Given the description of an element on the screen output the (x, y) to click on. 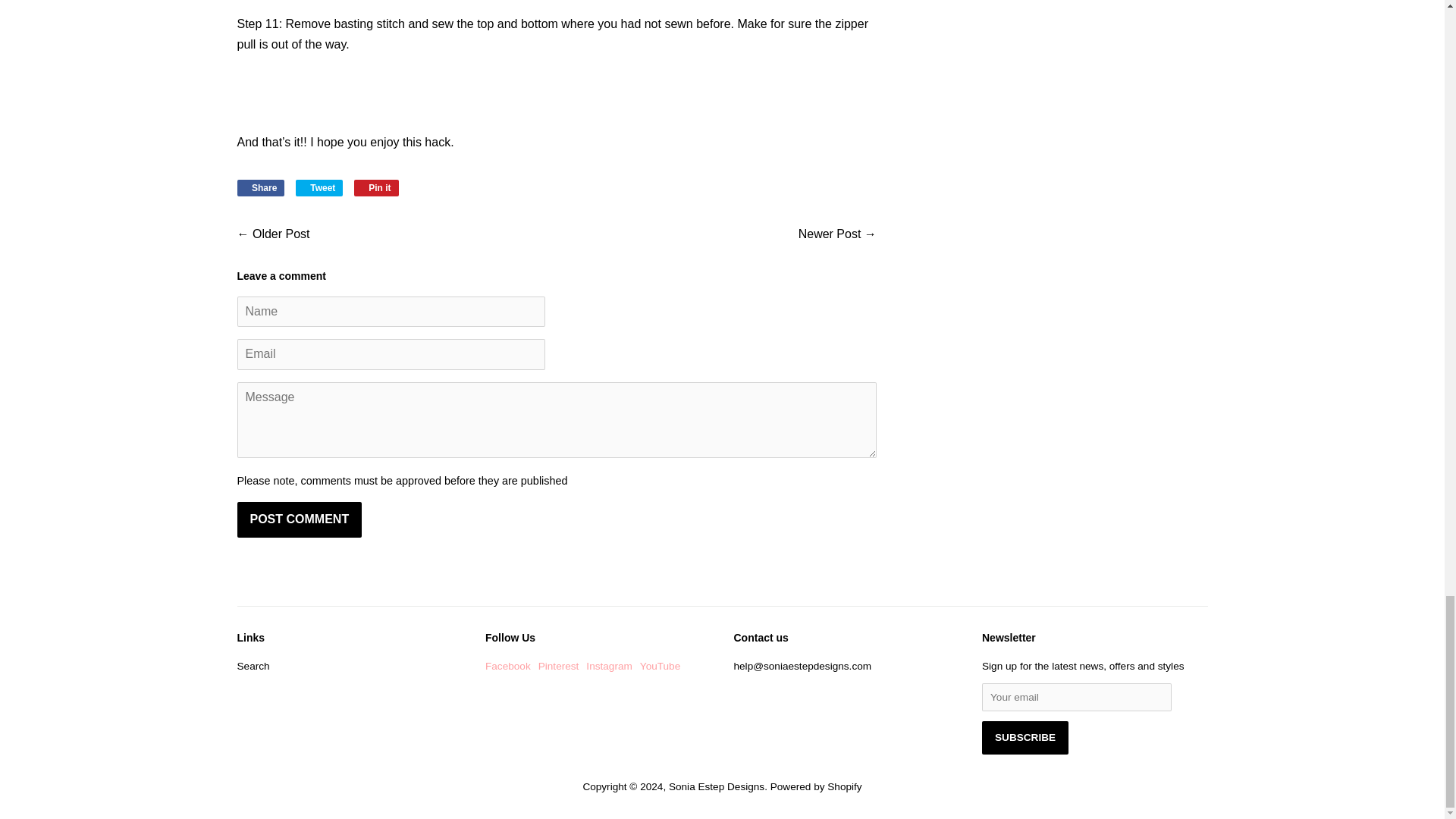
Pin on Pinterest (375, 187)
Sonia Estep Designs on Instagram (608, 665)
Post comment (298, 519)
Share on Facebook (259, 187)
Sonia Estep Designs on YouTube (659, 665)
Tweet on Twitter (319, 187)
Sonia Estep Designs on Facebook (507, 665)
Subscribe (1024, 737)
Sonia Estep Designs on Pinterest (558, 665)
